Given the description of an element on the screen output the (x, y) to click on. 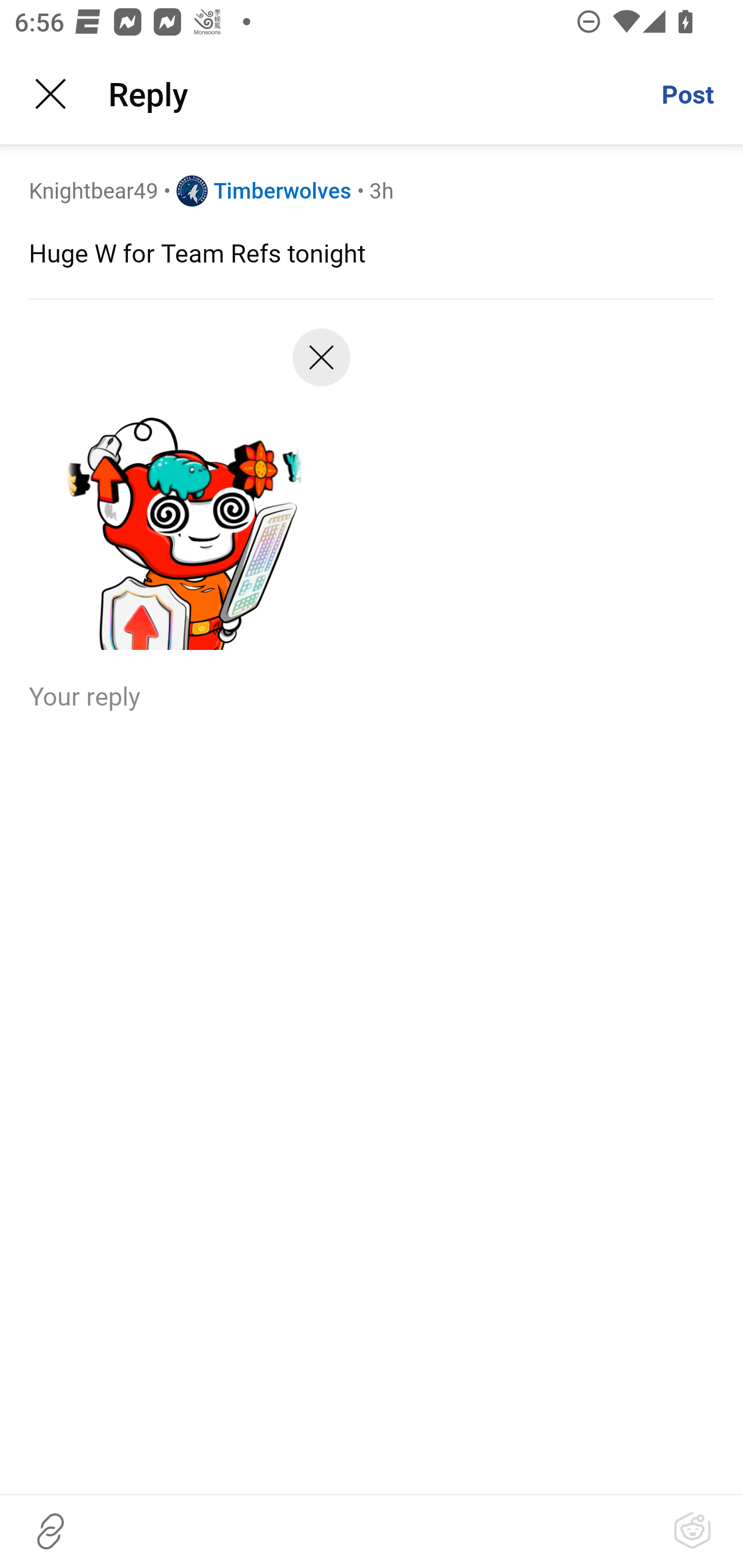
Close (50, 93)
Post (687, 94)
Close (320, 365)
dizziness expression (181, 496)
Your reply (371, 695)
Insert a link (50, 1530)
Show Expressions (692, 1530)
